Given the description of an element on the screen output the (x, y) to click on. 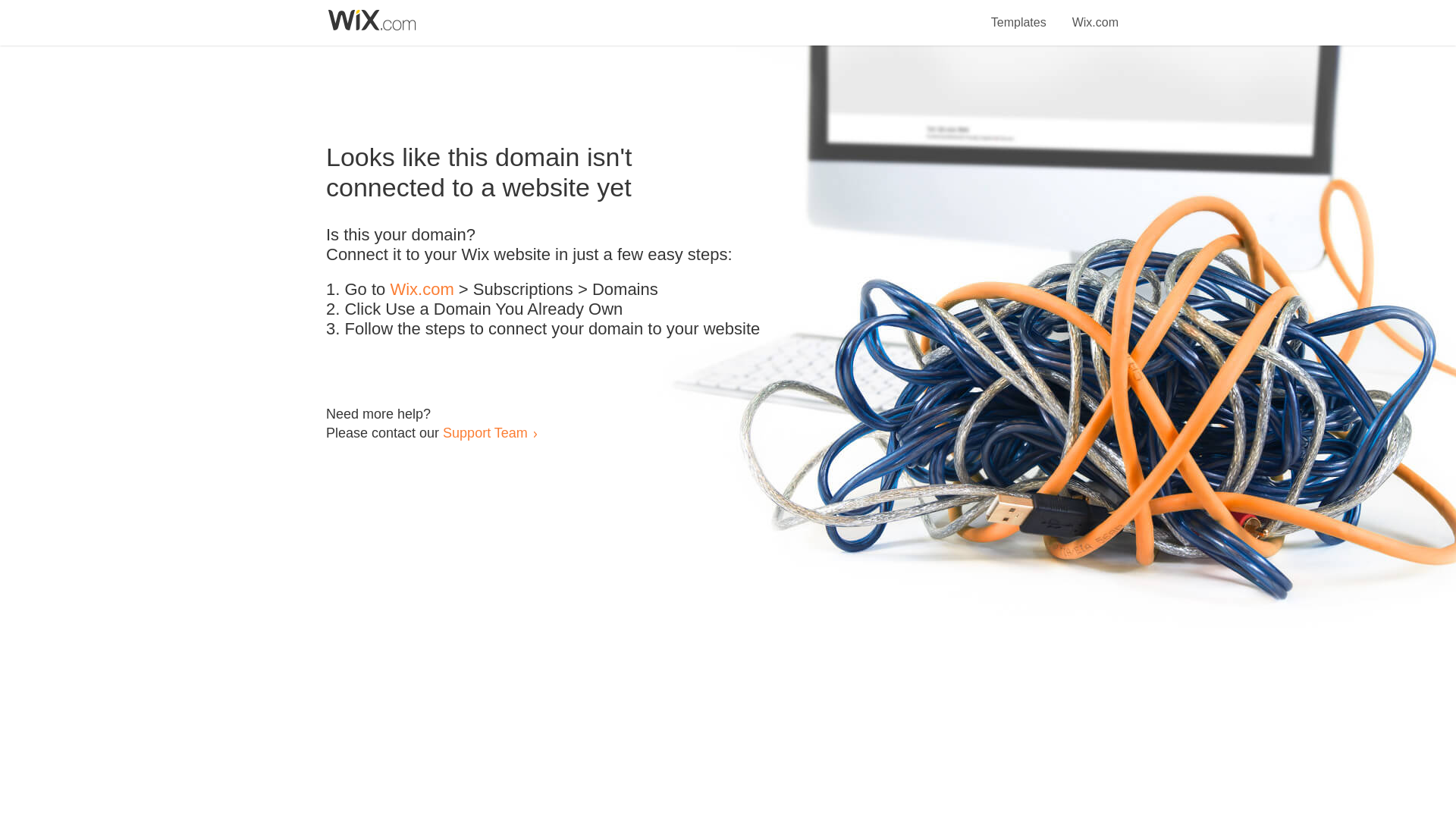
Support Team (484, 432)
Wix.com (1095, 14)
Wix.com (421, 289)
Templates (1018, 14)
